Given the description of an element on the screen output the (x, y) to click on. 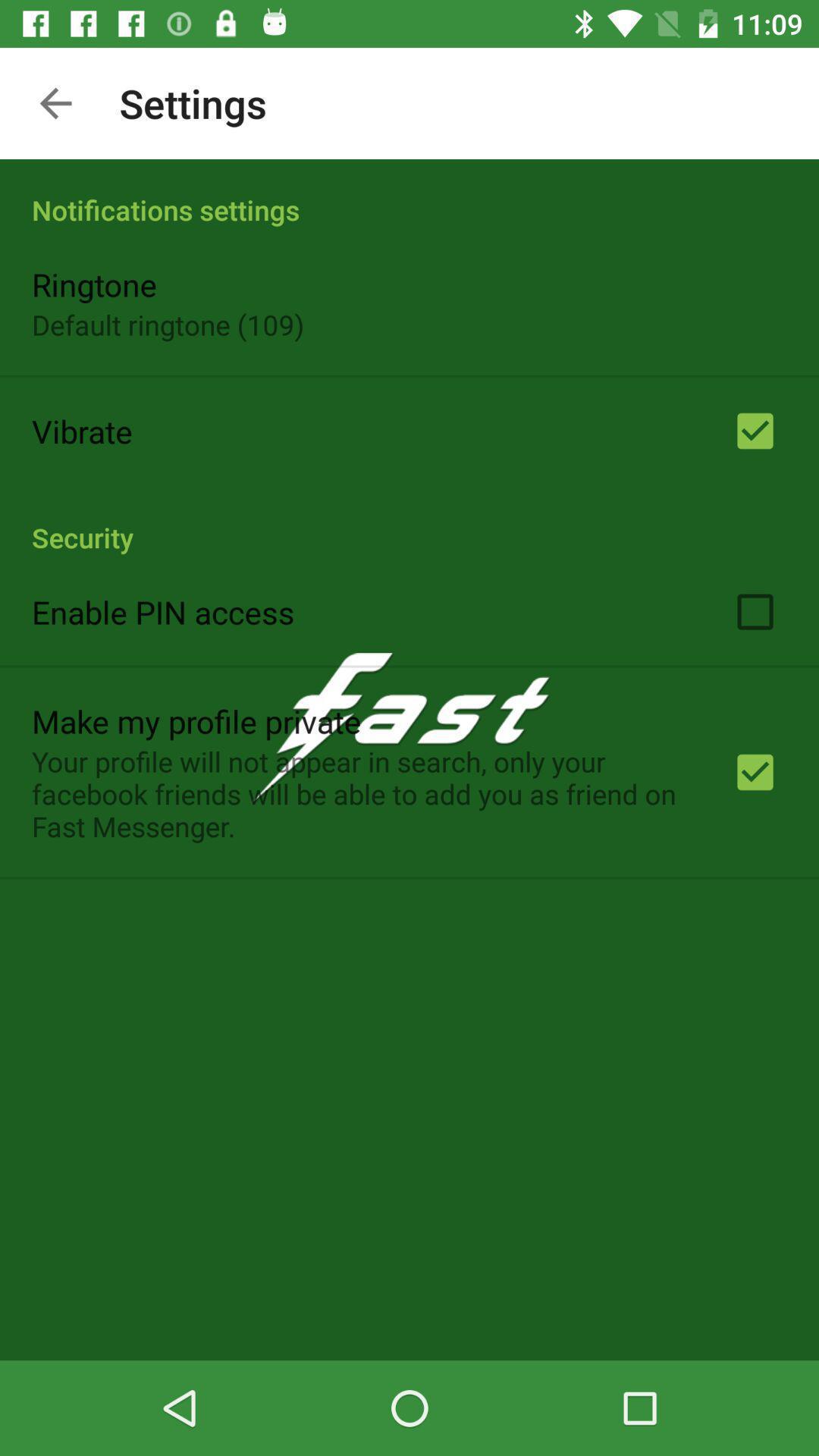
turn on the security app (409, 521)
